Given the description of an element on the screen output the (x, y) to click on. 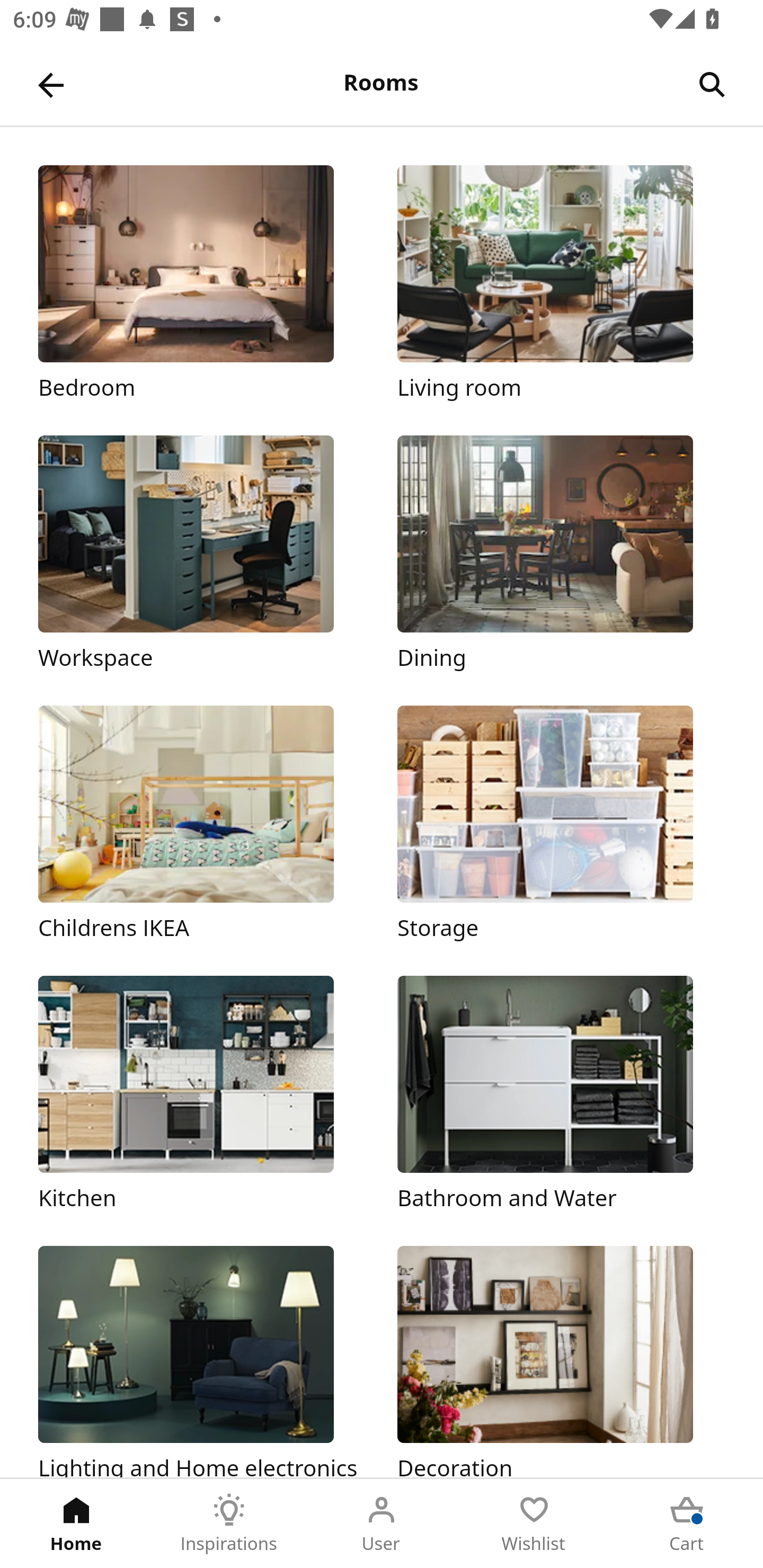
Bedroom (201, 283)
Living room (560, 283)
Workspace (201, 554)
Dining (560, 554)
Childrens IKEA (201, 824)
Storage (560, 824)
Kitchen (201, 1094)
Bathroom and Water (560, 1094)
Lighting and Home electronics (201, 1361)
Decoration (560, 1361)
Home
Tab 1 of 5 (76, 1522)
Inspirations
Tab 2 of 5 (228, 1522)
User
Tab 3 of 5 (381, 1522)
Wishlist
Tab 4 of 5 (533, 1522)
Cart
Tab 5 of 5 (686, 1522)
